Given the description of an element on the screen output the (x, y) to click on. 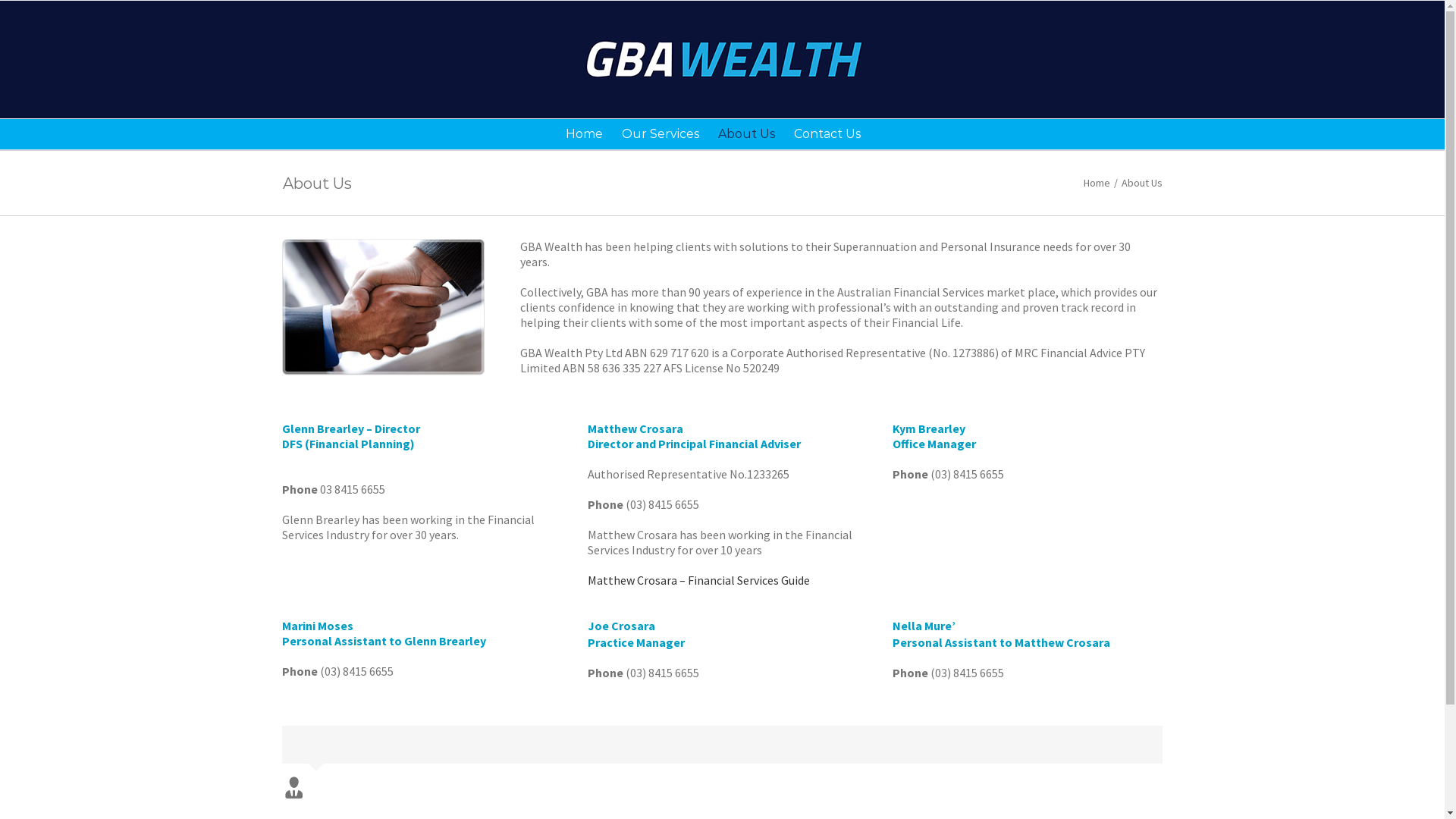
Home Element type: text (583, 134)
img_04_ourteam Element type: hover (383, 306)
Home Element type: text (1095, 182)
Contact Us Element type: text (826, 134)
About Us Element type: text (745, 134)
Our Services Element type: text (660, 134)
